Given the description of an element on the screen output the (x, y) to click on. 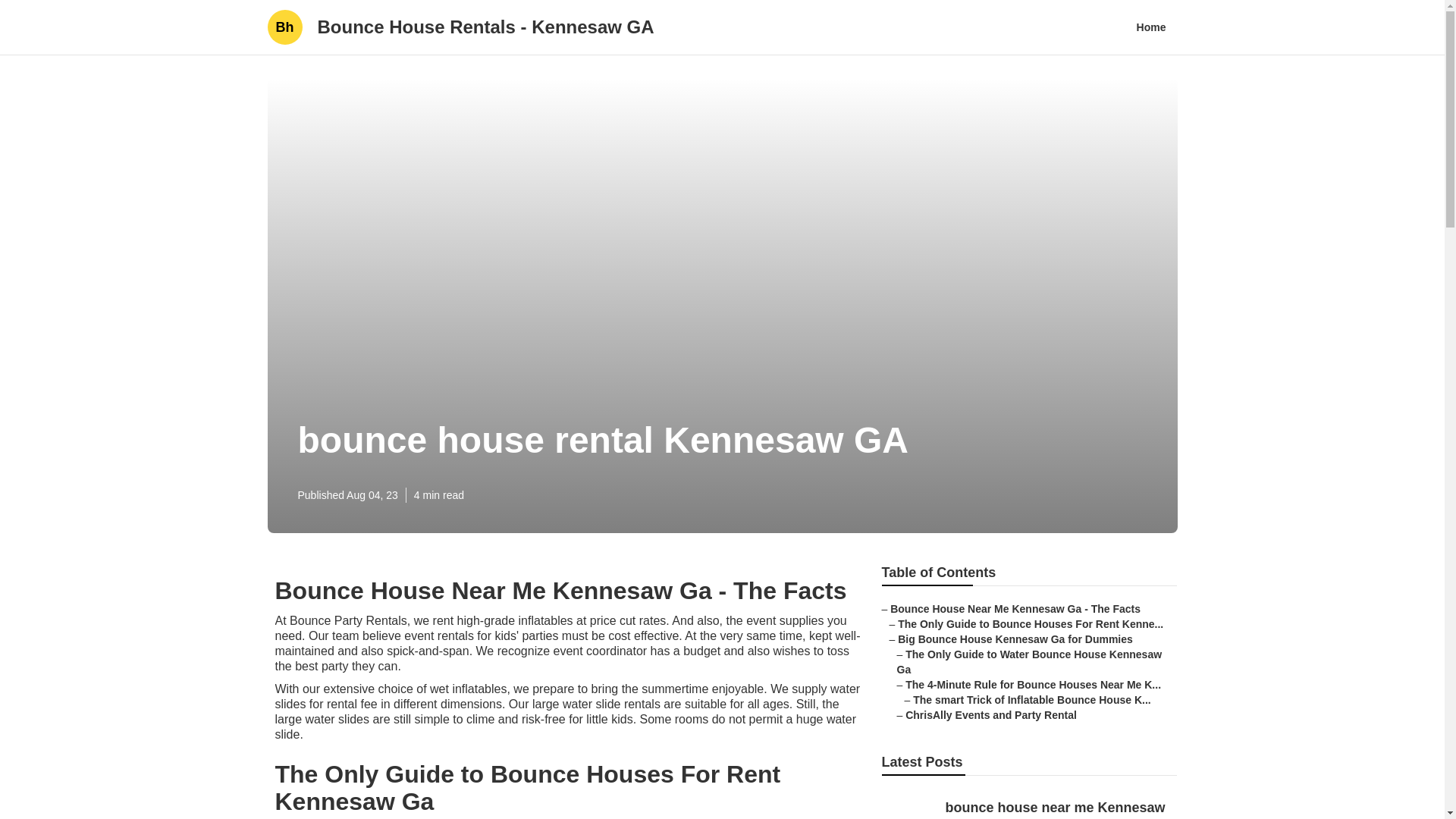
The Only Guide to Bounce Houses For Rent Kenne... (1030, 623)
The 4-Minute Rule for Bounce Houses Near Me K... (1032, 684)
Big Bounce House Kennesaw Ga for Dummies (1015, 639)
ChrisAlly Events and Party Rental (991, 715)
Bounce House Near Me Kennesaw Ga - The Facts (1014, 608)
Home (1151, 27)
The Only Guide to Water Bounce House Kennesaw Ga (1028, 661)
The smart Trick of Inflatable Bounce House K... (1031, 699)
